Given the description of an element on the screen output the (x, y) to click on. 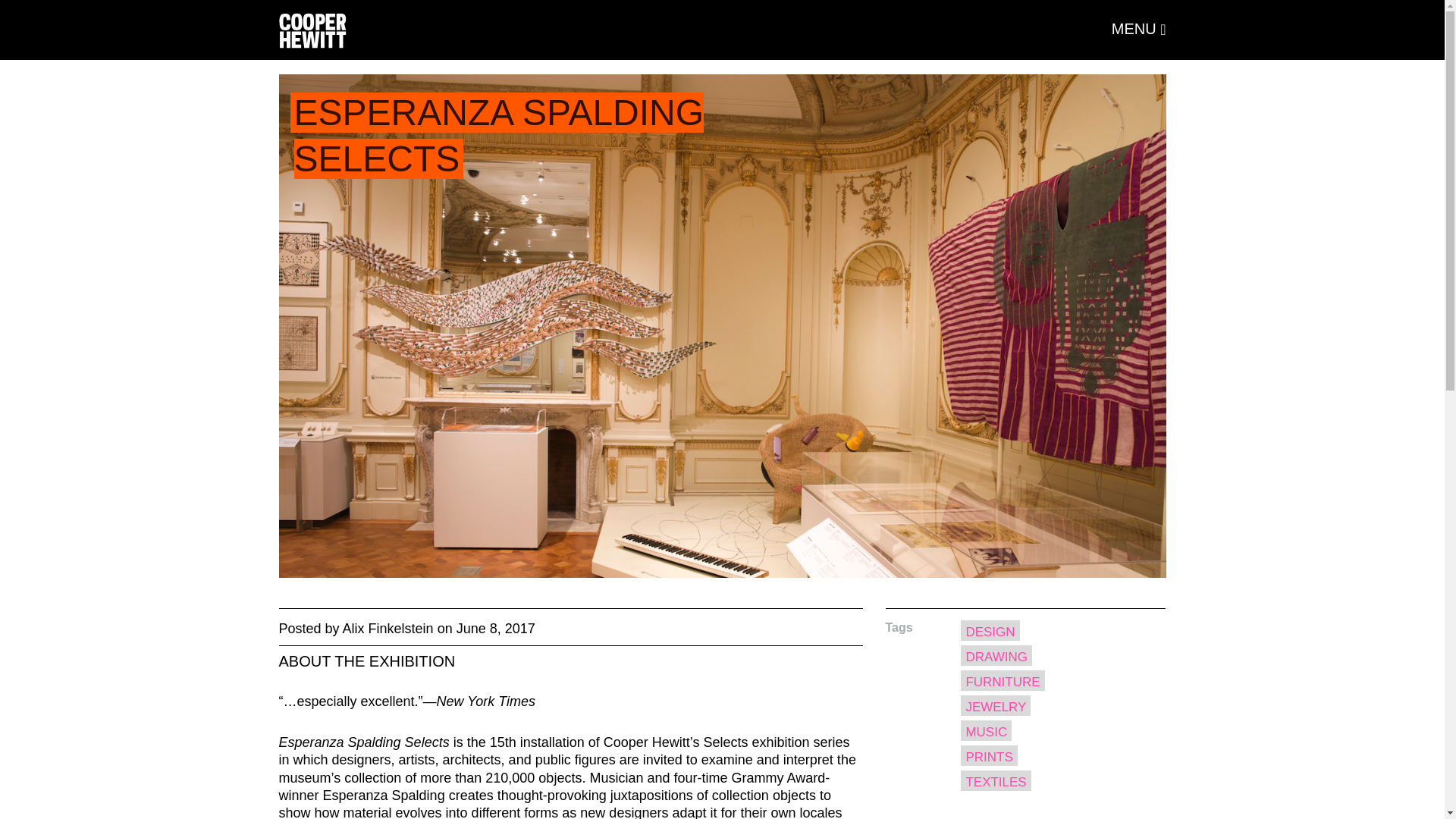
MENU (1139, 28)
